Given the description of an element on the screen output the (x, y) to click on. 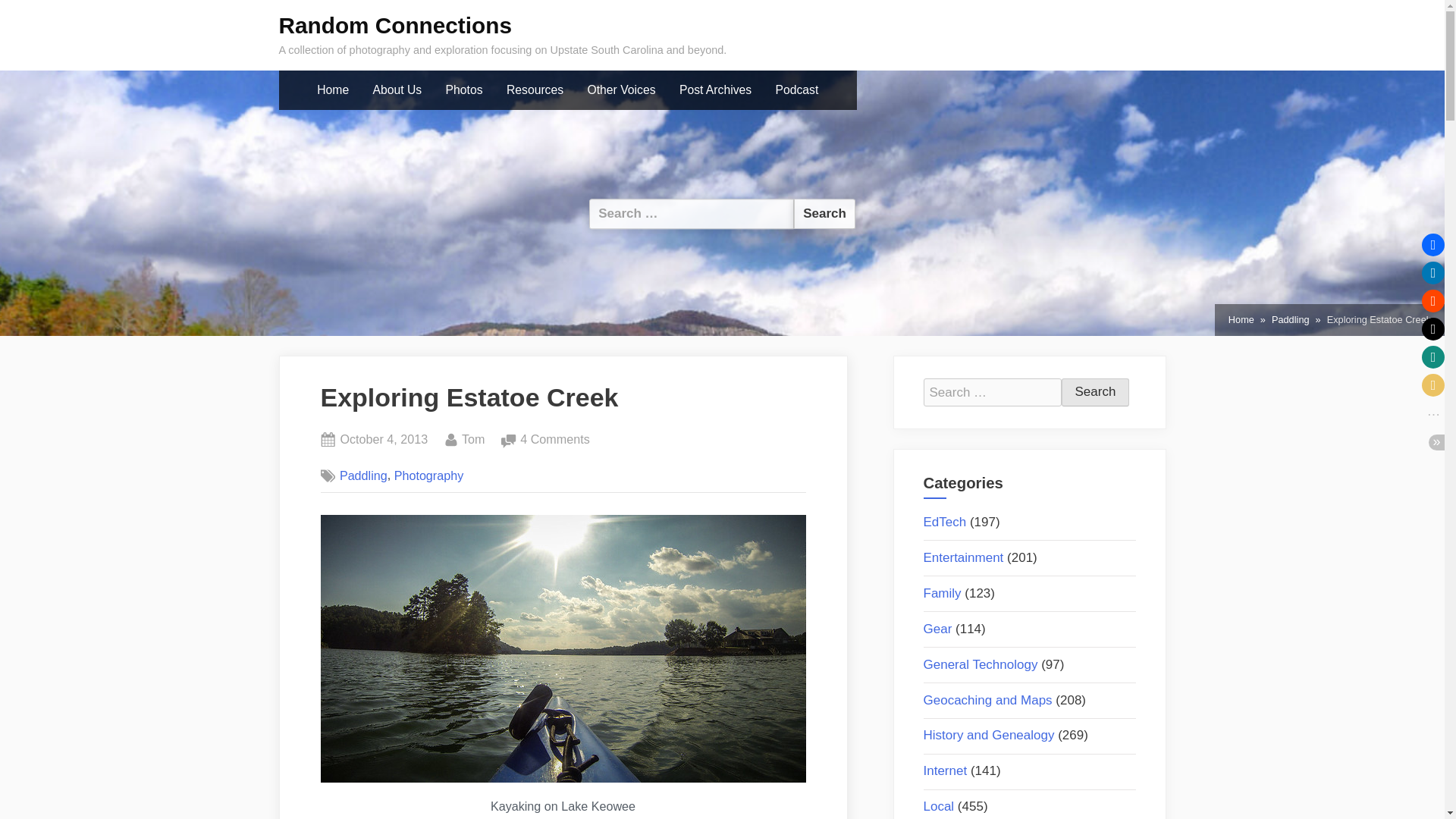
Home (383, 439)
Resources (1240, 320)
Search (534, 90)
Home (1095, 392)
Post Archives (332, 90)
Photography (715, 90)
Lake Keowee by RandomConnections, on Flickr (429, 475)
About Us (562, 778)
Search (397, 90)
